Given the description of an element on the screen output the (x, y) to click on. 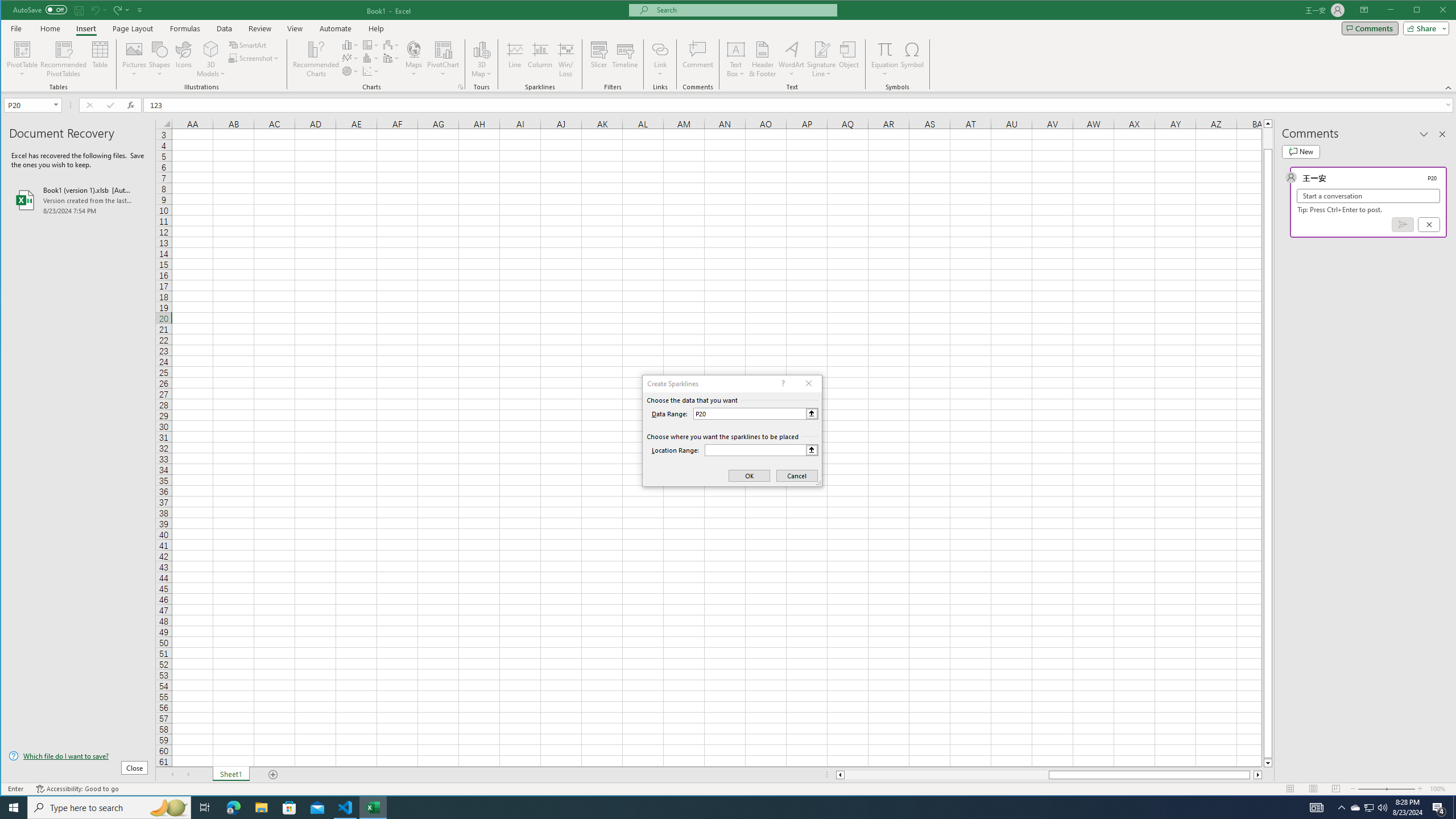
Signature Line (821, 48)
Cancel (1428, 224)
3D Models (211, 59)
Insert Waterfall, Funnel, Stock, Surface, or Radar Chart (391, 44)
Insert Scatter (X, Y) or Bubble Chart (371, 70)
Screenshot (254, 57)
Draw Horizontal Text Box (735, 48)
Maximize (1432, 11)
Comment (697, 59)
